Given the description of an element on the screen output the (x, y) to click on. 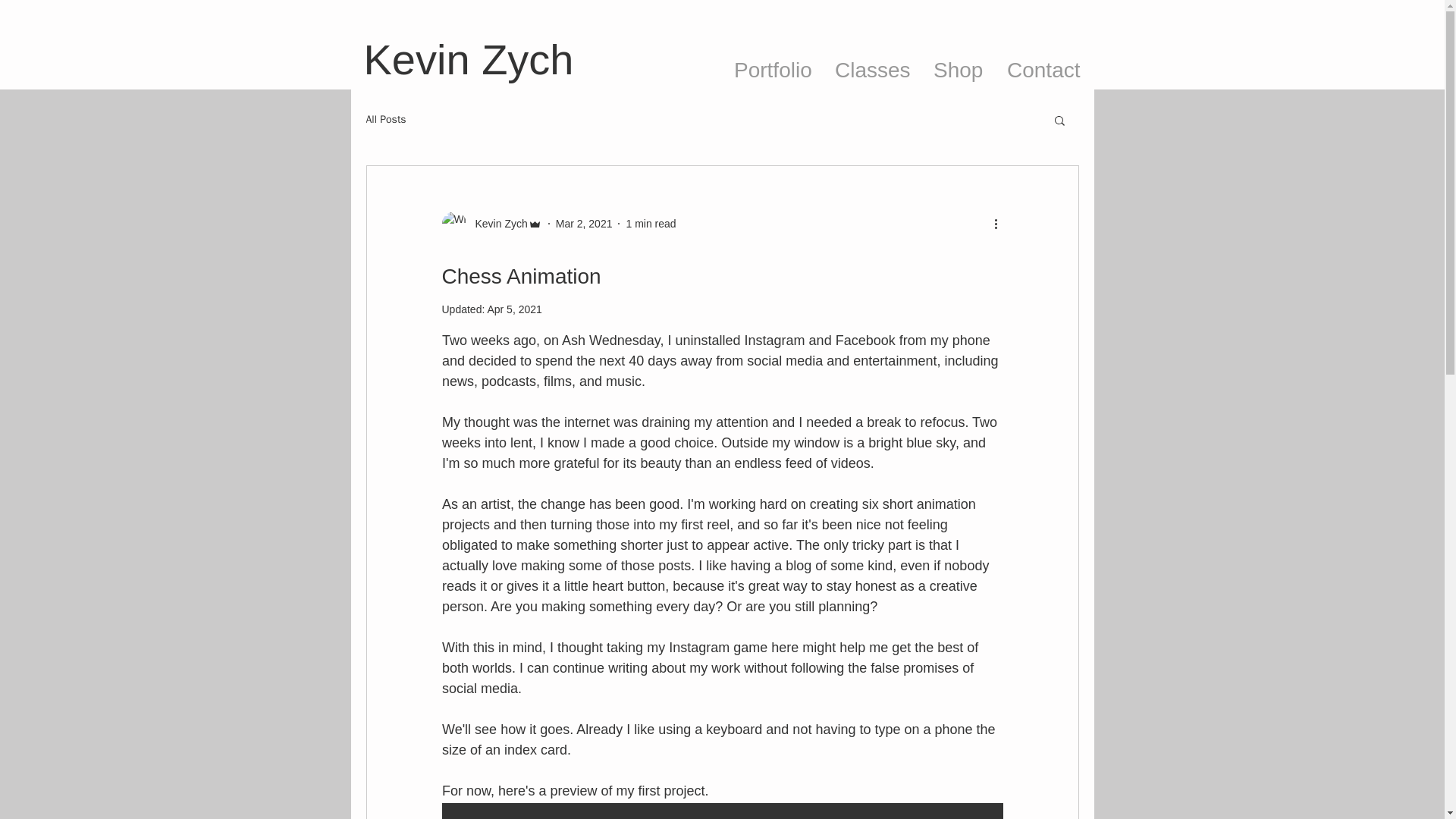
Mar 2, 2021 (584, 223)
Kevin Zych (468, 59)
Classes (872, 65)
Kevin Zych (491, 223)
Shop (958, 65)
Portfolio (773, 65)
All Posts (385, 119)
Apr 5, 2021 (513, 309)
Kevin Zych (496, 223)
1 min read (650, 223)
Contact (1044, 65)
